Given the description of an element on the screen output the (x, y) to click on. 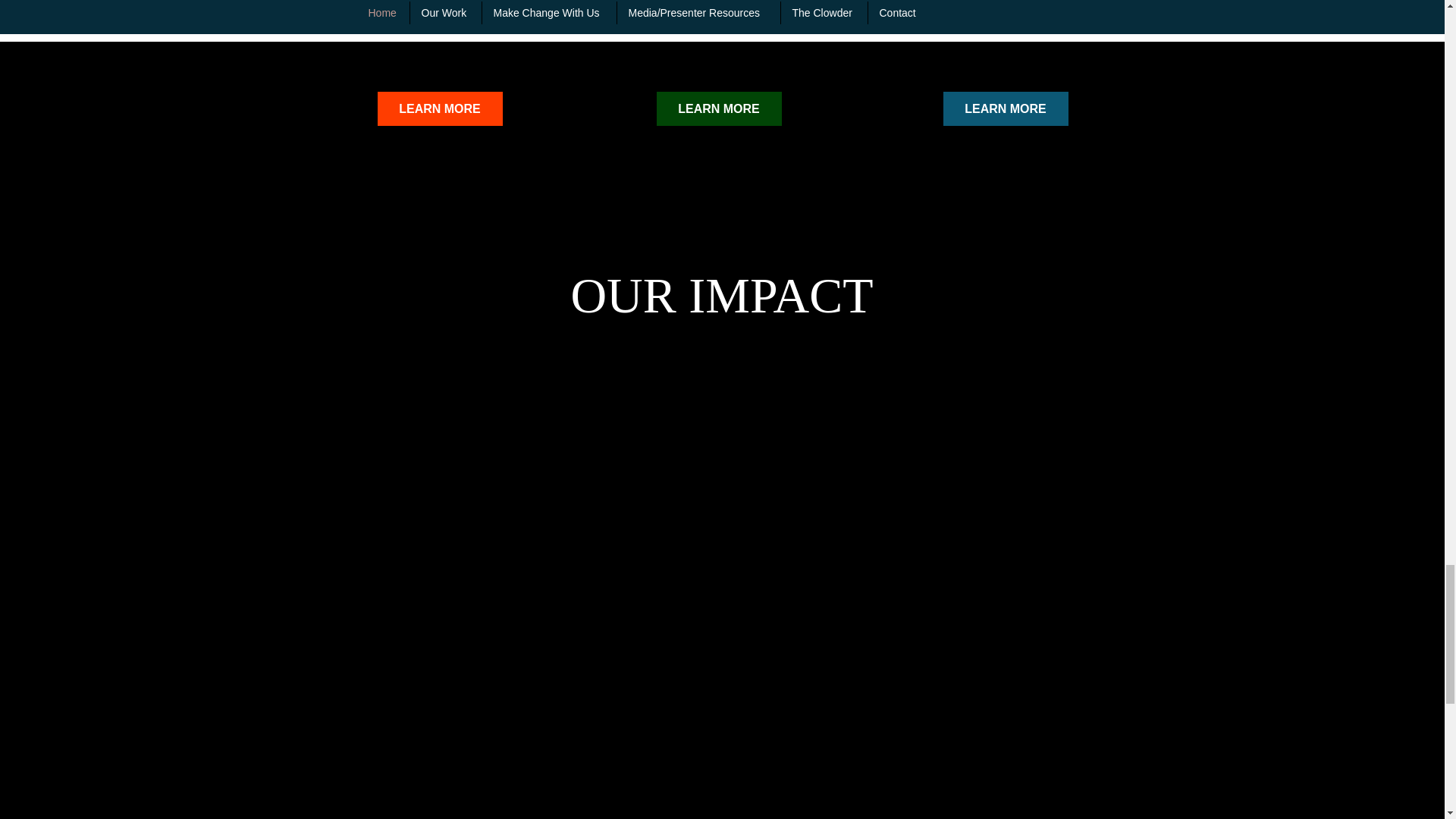
LEARN MORE (718, 108)
LEARN MORE (1005, 108)
LEARN MORE (439, 108)
